Given the description of an element on the screen output the (x, y) to click on. 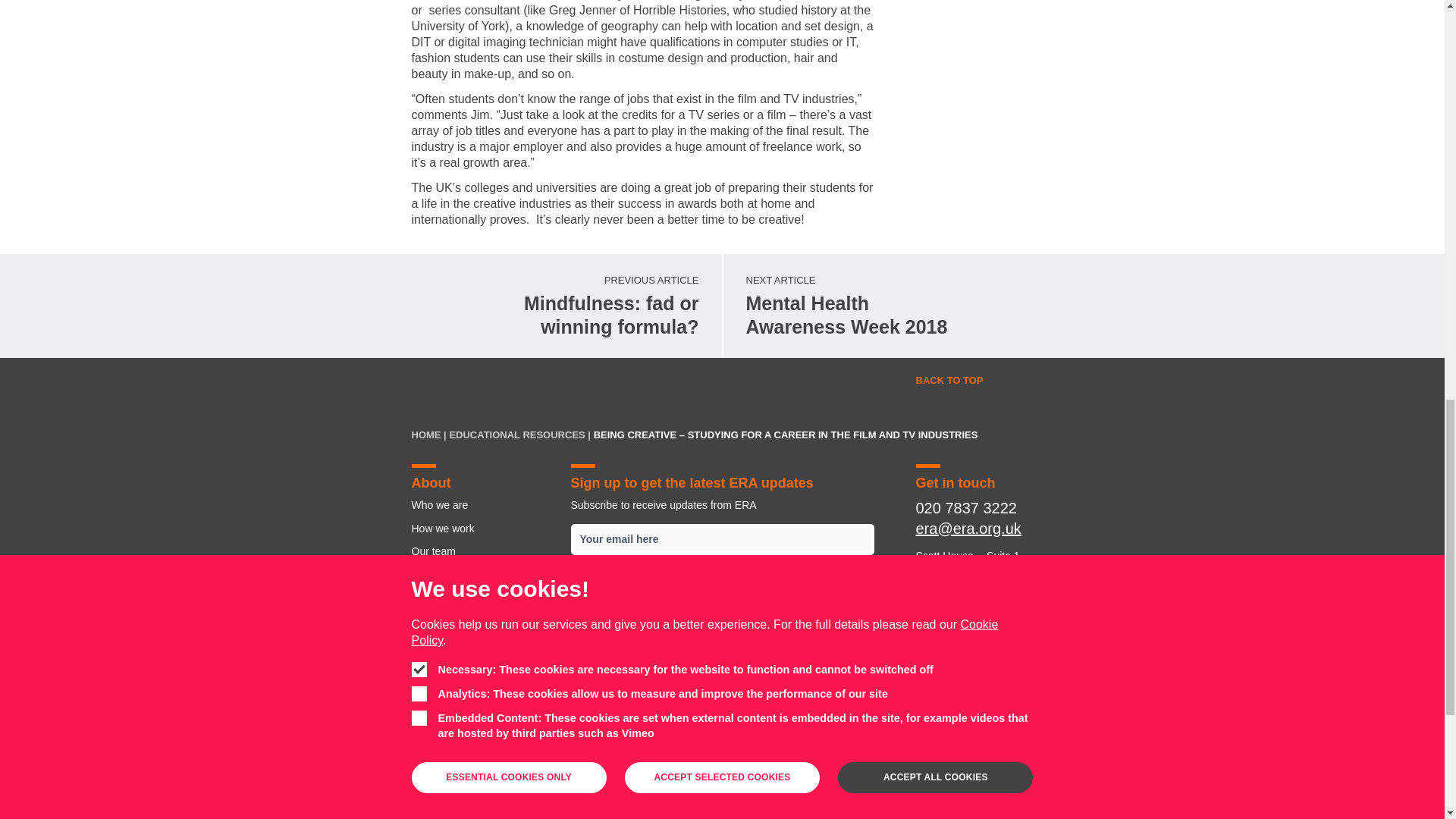
Our team (556, 757)
Our team (482, 550)
EDUCATIONAL RESOURCES (516, 434)
Accessibility Statement (482, 666)
Organisations we represent (882, 305)
Governance (641, 757)
Accessibility Statement (732, 757)
Who we are (957, 757)
How we work (482, 504)
privacy policy (482, 527)
Partner organisations (698, 631)
Sign Up (812, 757)
Organisations we represent (722, 584)
Updates (482, 573)
